Given the description of an element on the screen output the (x, y) to click on. 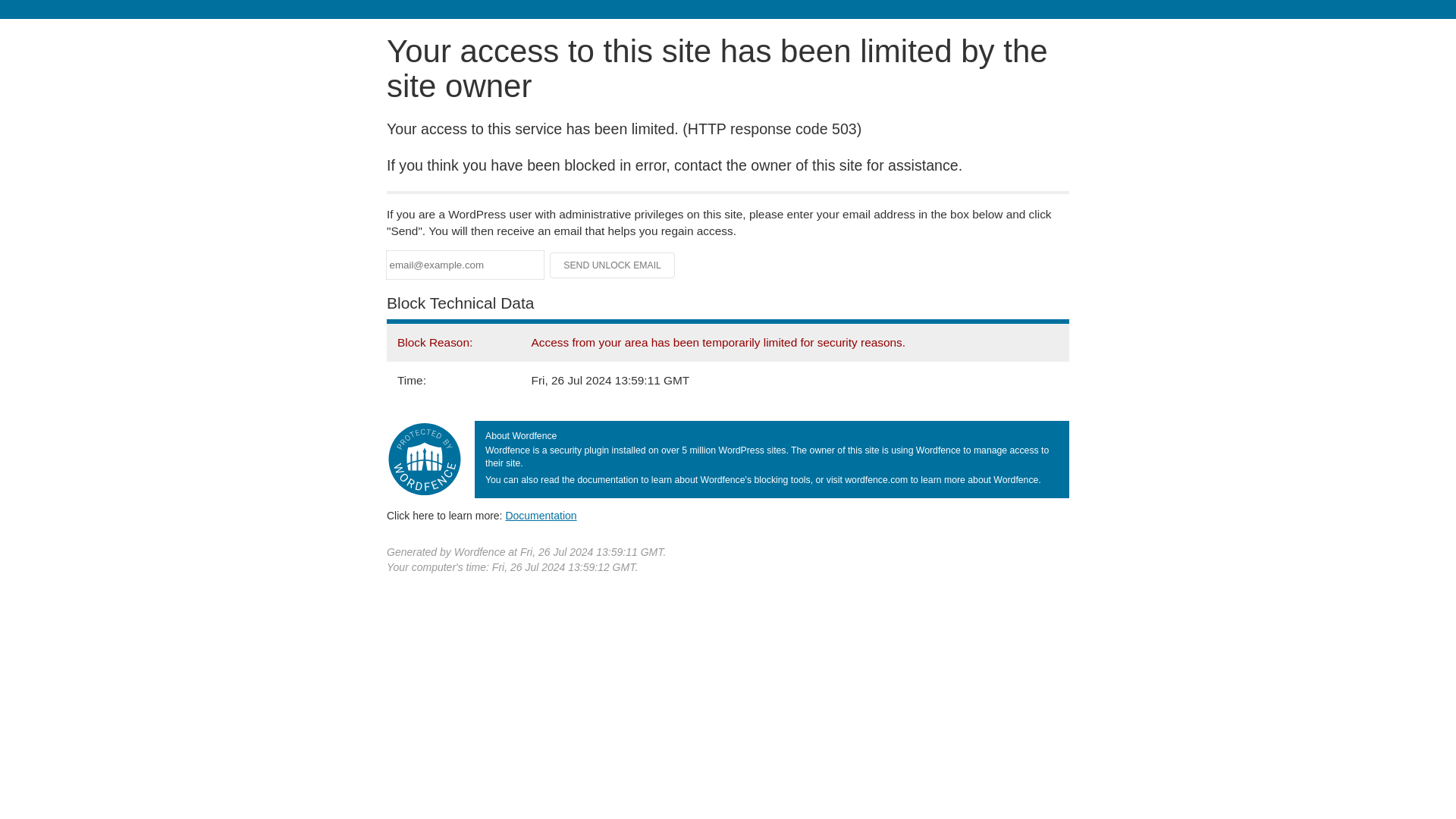
Documentation (540, 515)
Send Unlock Email (612, 265)
Send Unlock Email (612, 265)
